Given the description of an element on the screen output the (x, y) to click on. 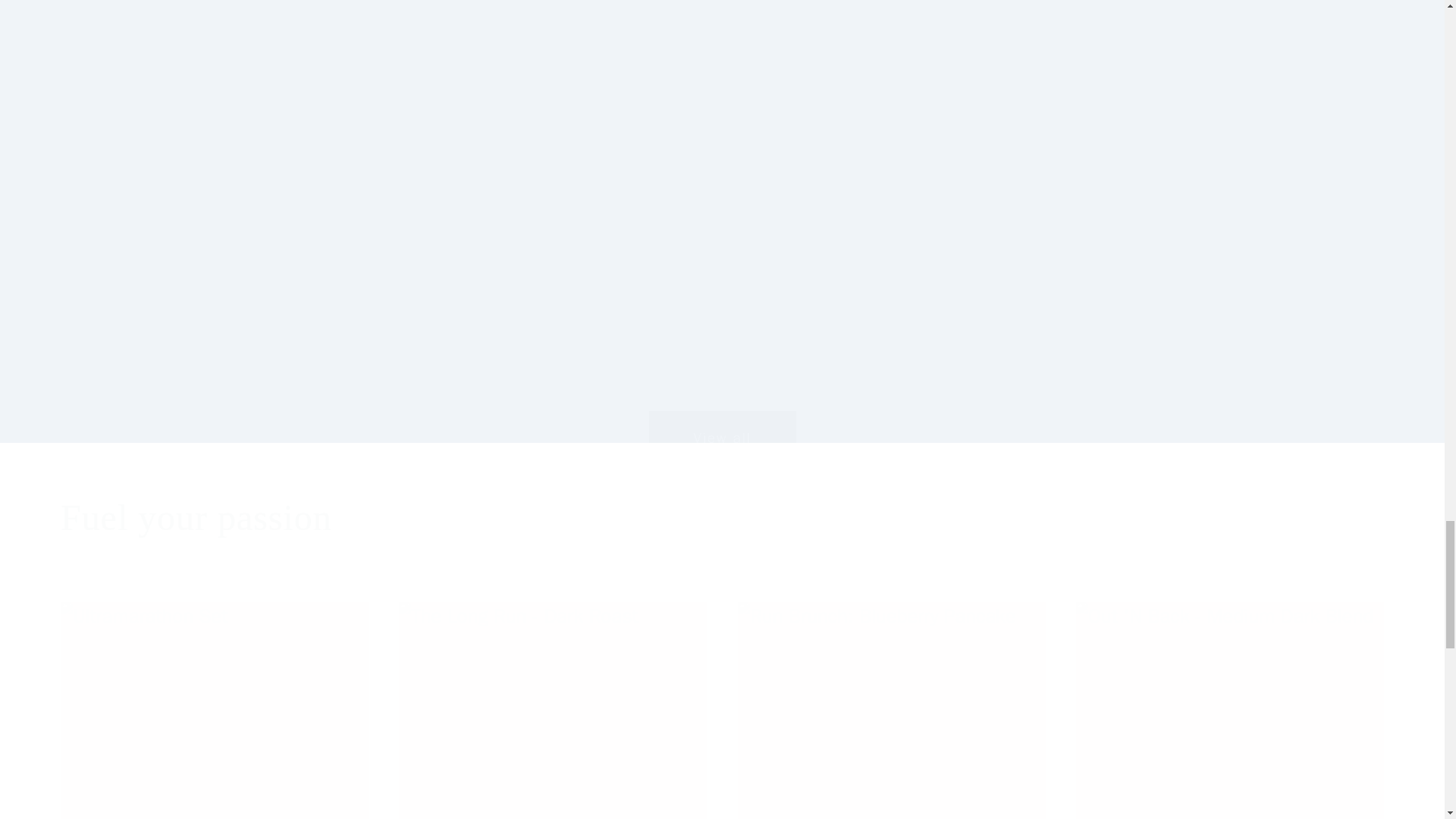
Fuel your passion (722, 517)
